Given the description of an element on the screen output the (x, y) to click on. 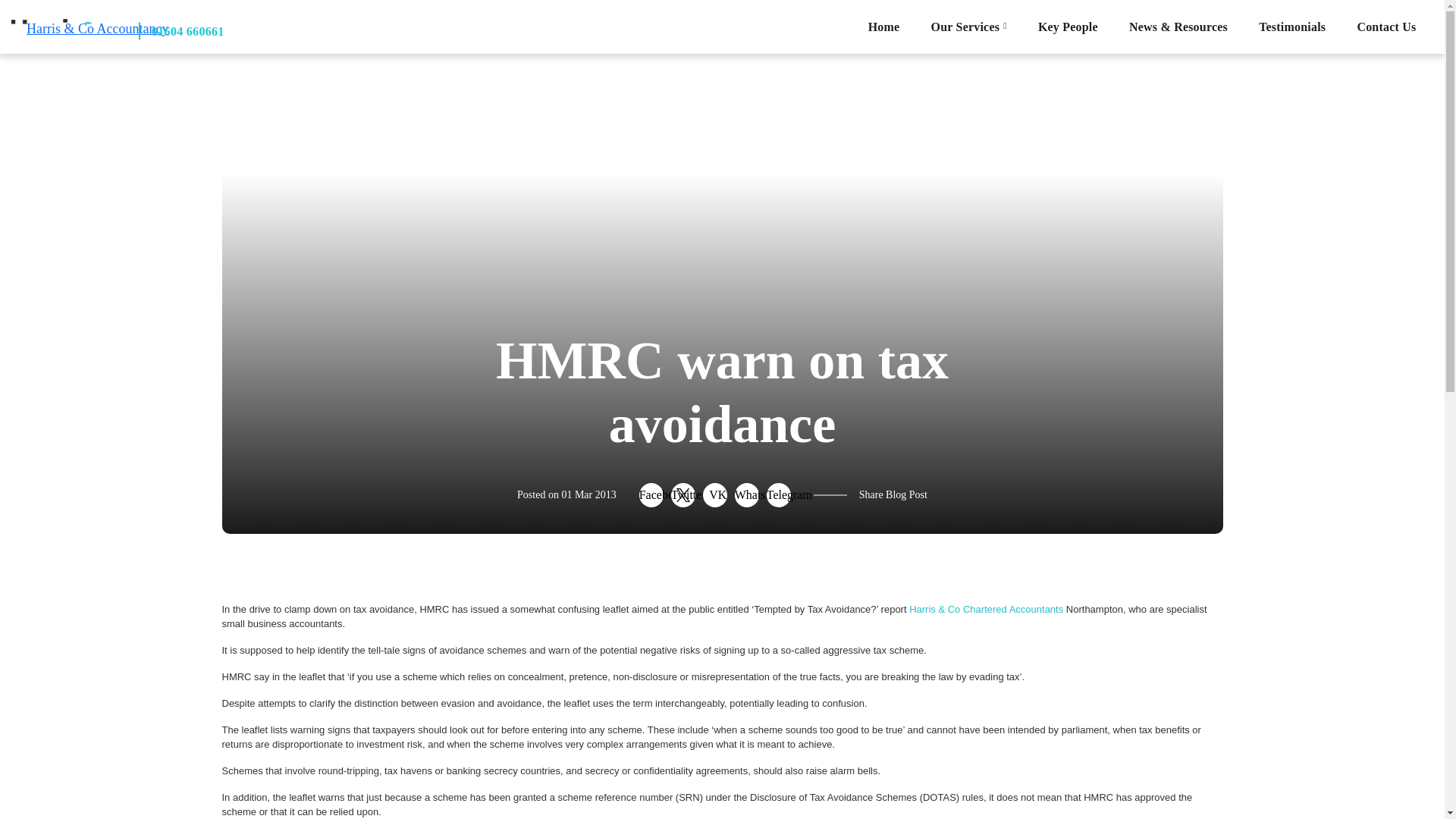
VK (714, 494)
WhatsApp (746, 494)
Contact Us (1385, 27)
Key People (1067, 27)
Telegram (778, 494)
Testimonials (1291, 27)
Home (883, 27)
Facebook (651, 494)
Twitter (683, 494)
01604 660661 (181, 30)
